Given the description of an element on the screen output the (x, y) to click on. 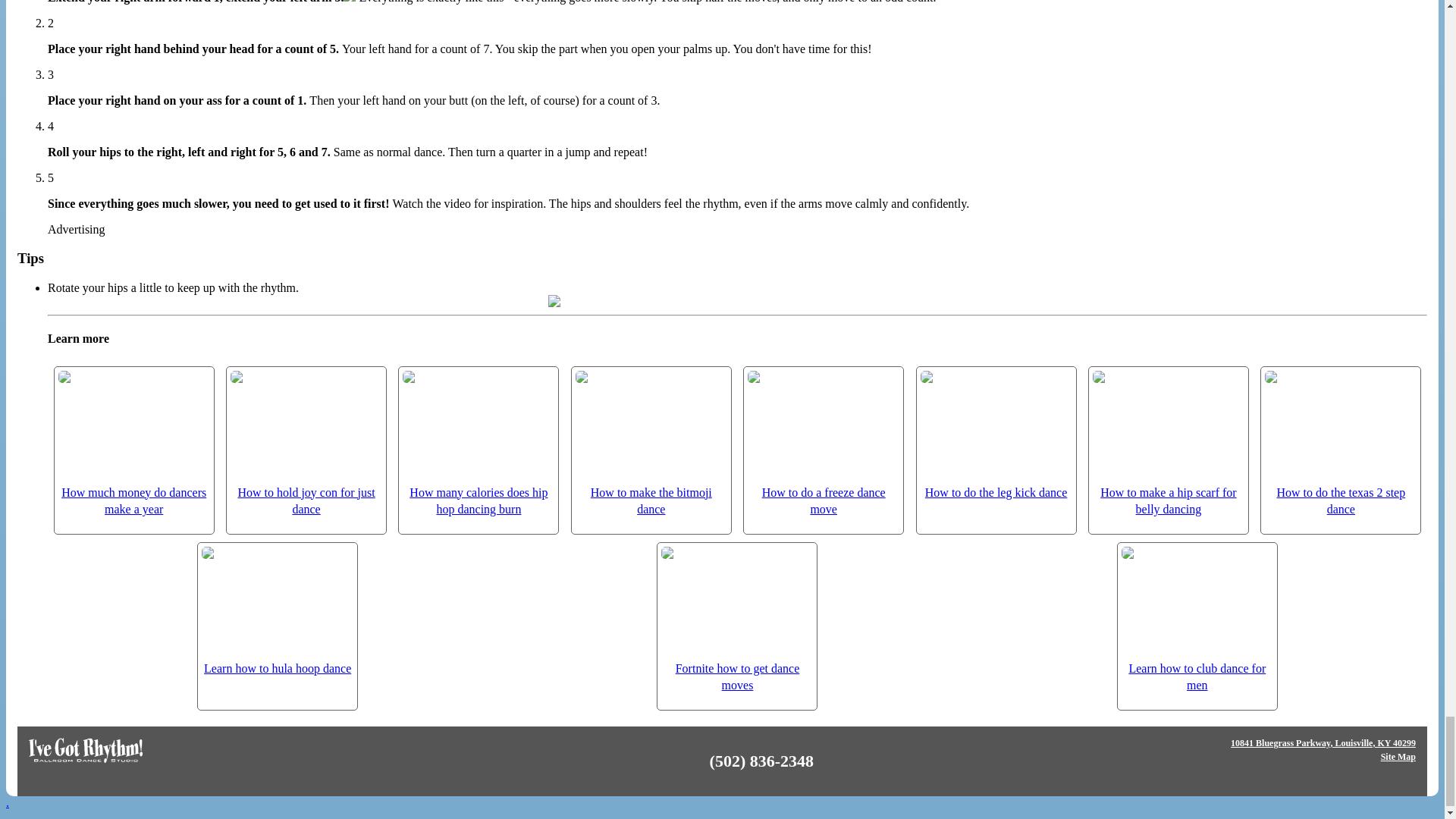
How to do the texas 2 step dance (1340, 443)
How many calories does hip hop dancing burn (478, 443)
How many calories does hip hop dancing burn (478, 443)
How much money do dancers make a year (133, 443)
Learn how to club dance for men (1196, 619)
How to hold joy con for just dance (305, 443)
Learn how to hula hoop dance (277, 610)
Fortnite how to get dance moves (736, 619)
How to make the bitmoji dance (650, 443)
Learn how to hula hoop dance (277, 610)
10841 Bluegrass Parkway, Louisville, KY 40299 (1322, 743)
How to make a hip scarf for belly dancing (1168, 443)
Learn how to club dance for men (1196, 619)
How to make the bitmoji dance (650, 443)
How to do the leg kick dance (995, 434)
